Given the description of an element on the screen output the (x, y) to click on. 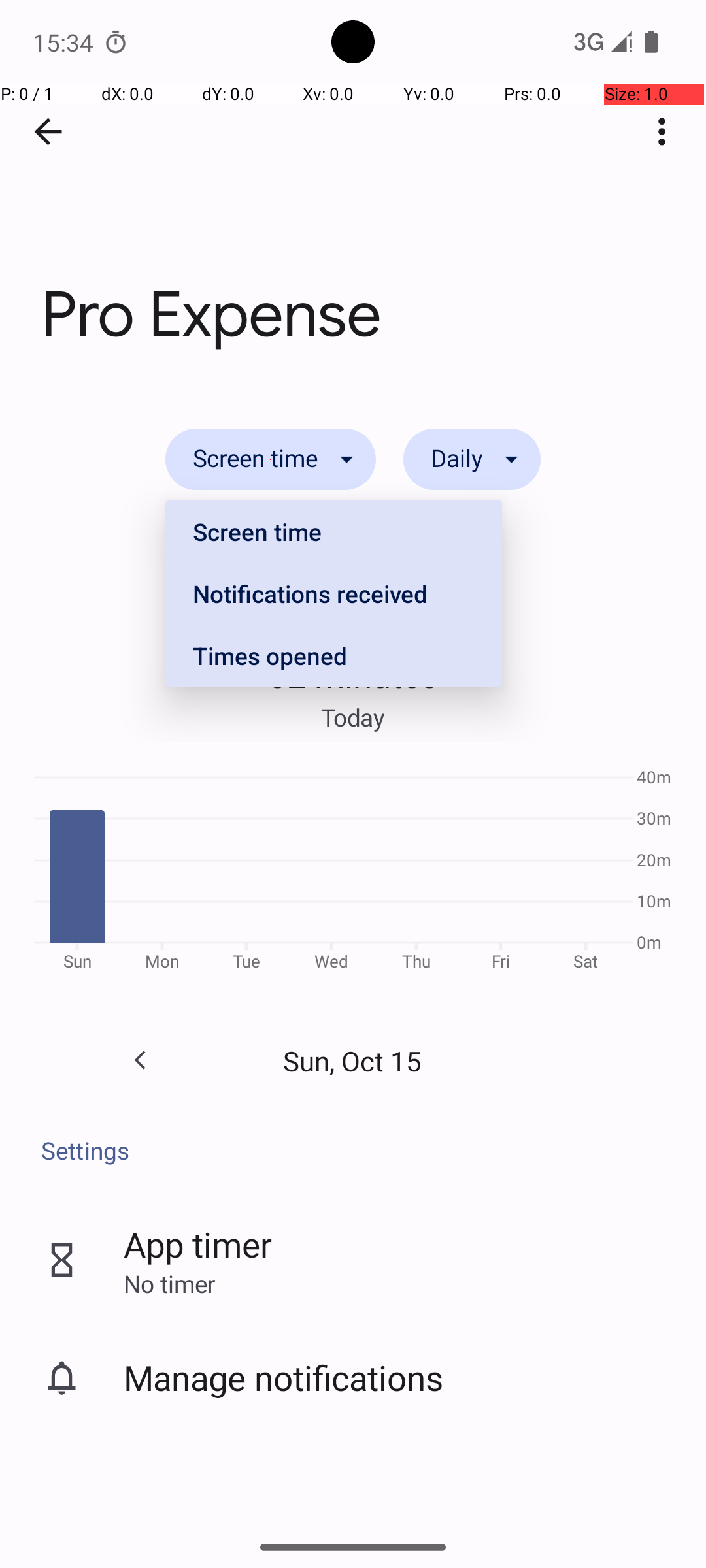
Notifications received Element type: android.widget.TextView (333, 593)
Times opened Element type: android.widget.TextView (333, 655)
